Given the description of an element on the screen output the (x, y) to click on. 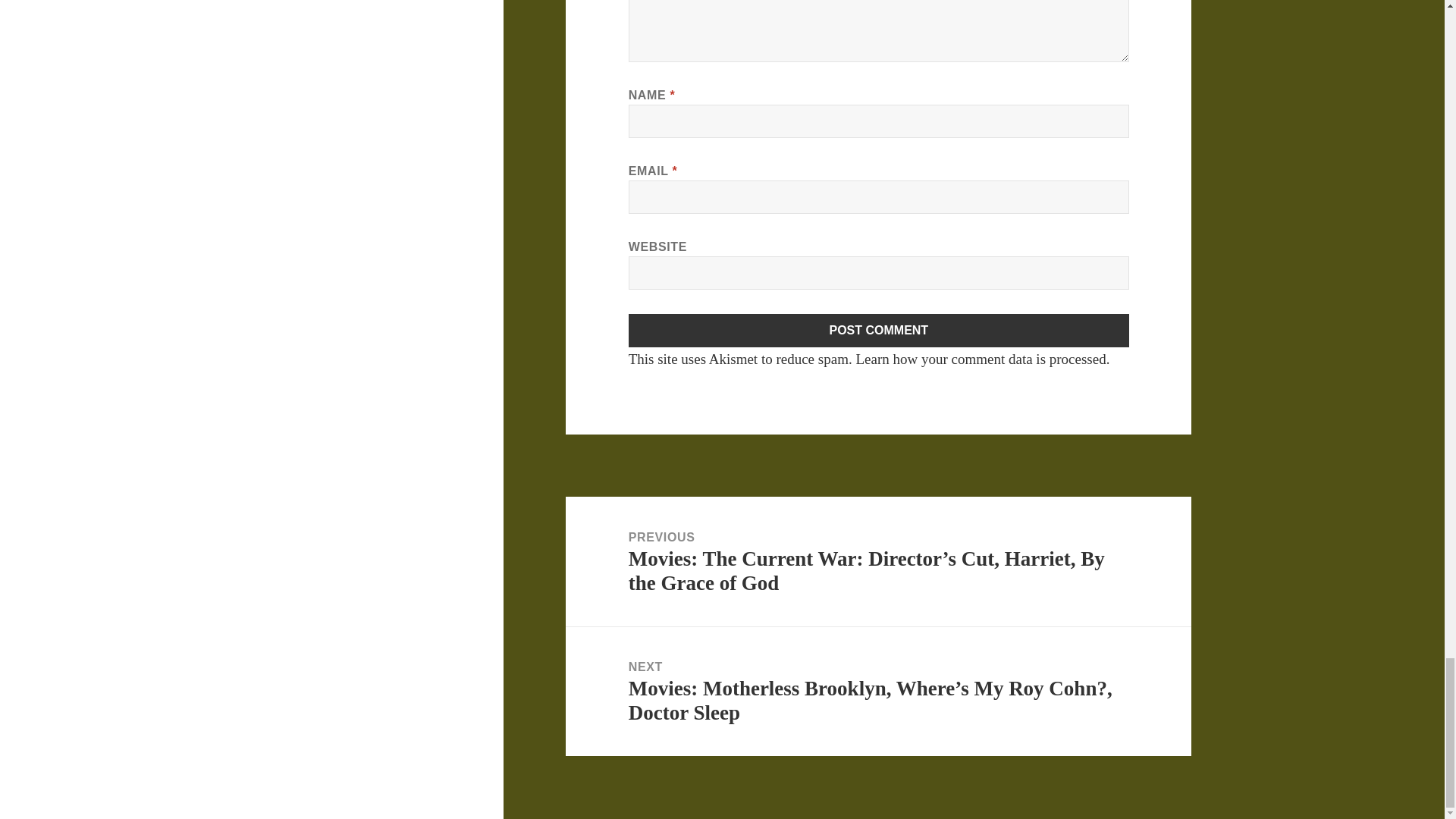
Post Comment (878, 330)
Post Comment (878, 330)
Learn how your comment data is processed (980, 358)
